Given the description of an element on the screen output the (x, y) to click on. 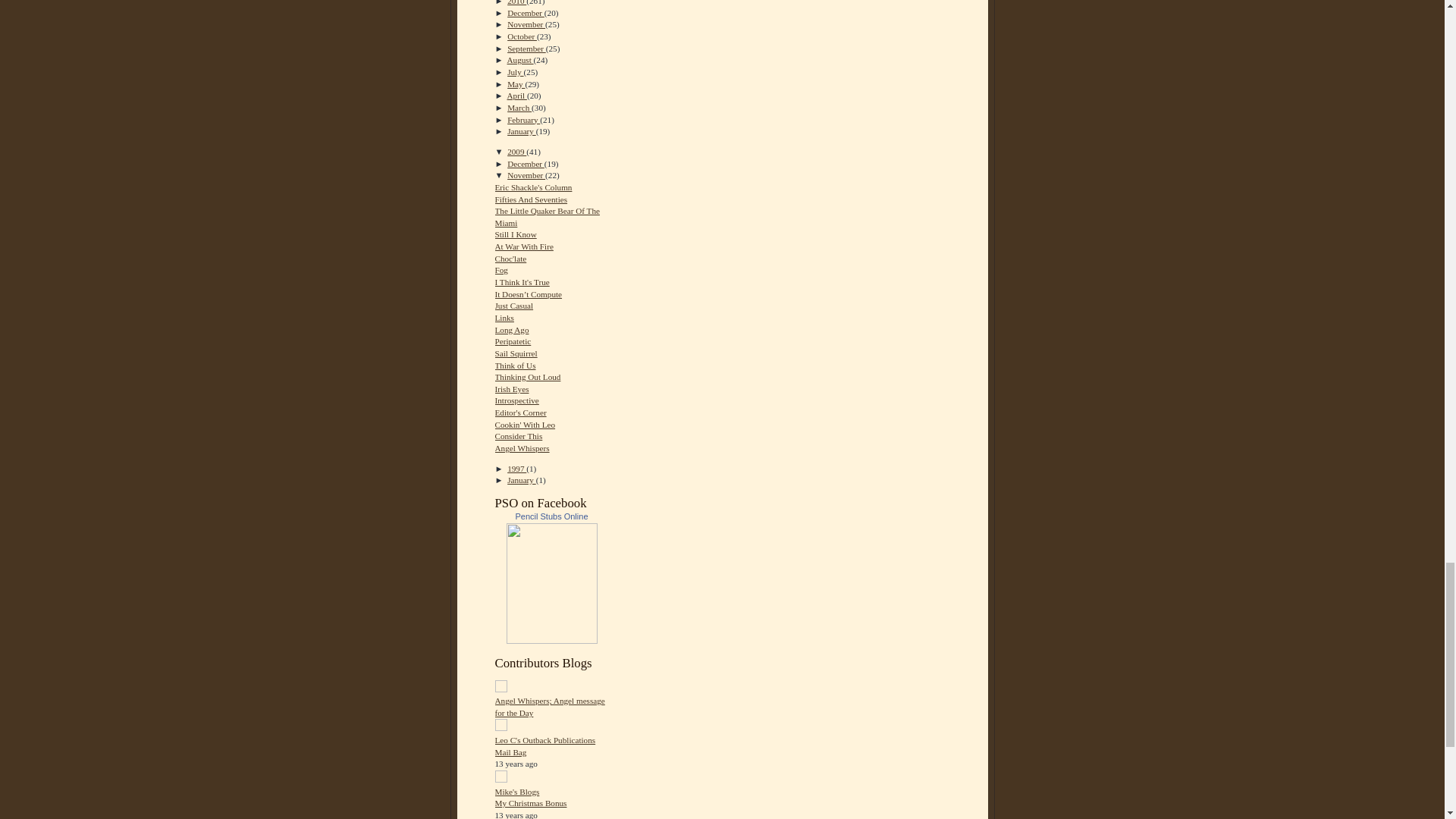
Pencil Stubs Online (551, 640)
Pencil Stubs Online (551, 515)
